Given the description of an element on the screen output the (x, y) to click on. 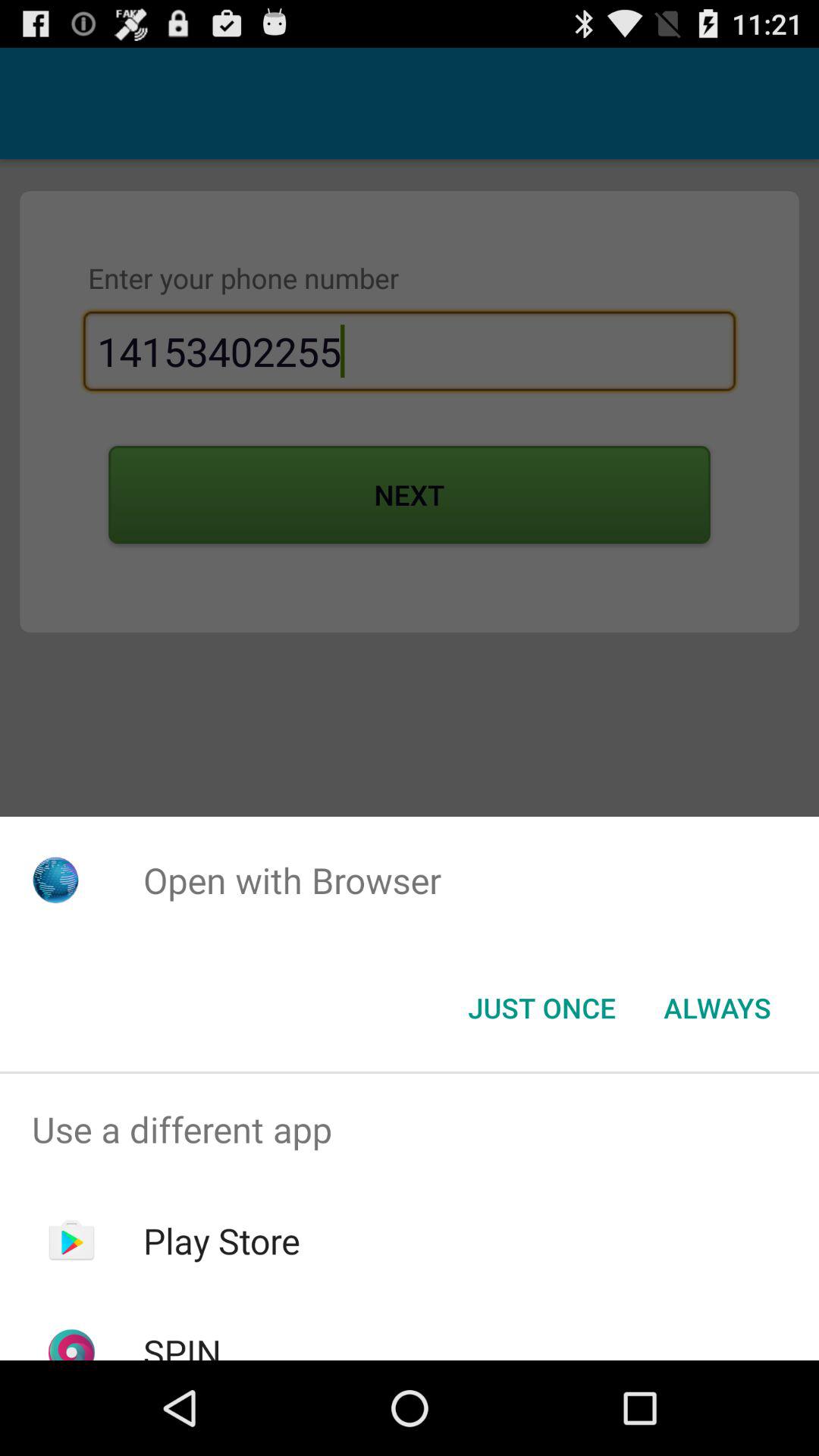
press the app below use a different item (221, 1240)
